Given the description of an element on the screen output the (x, y) to click on. 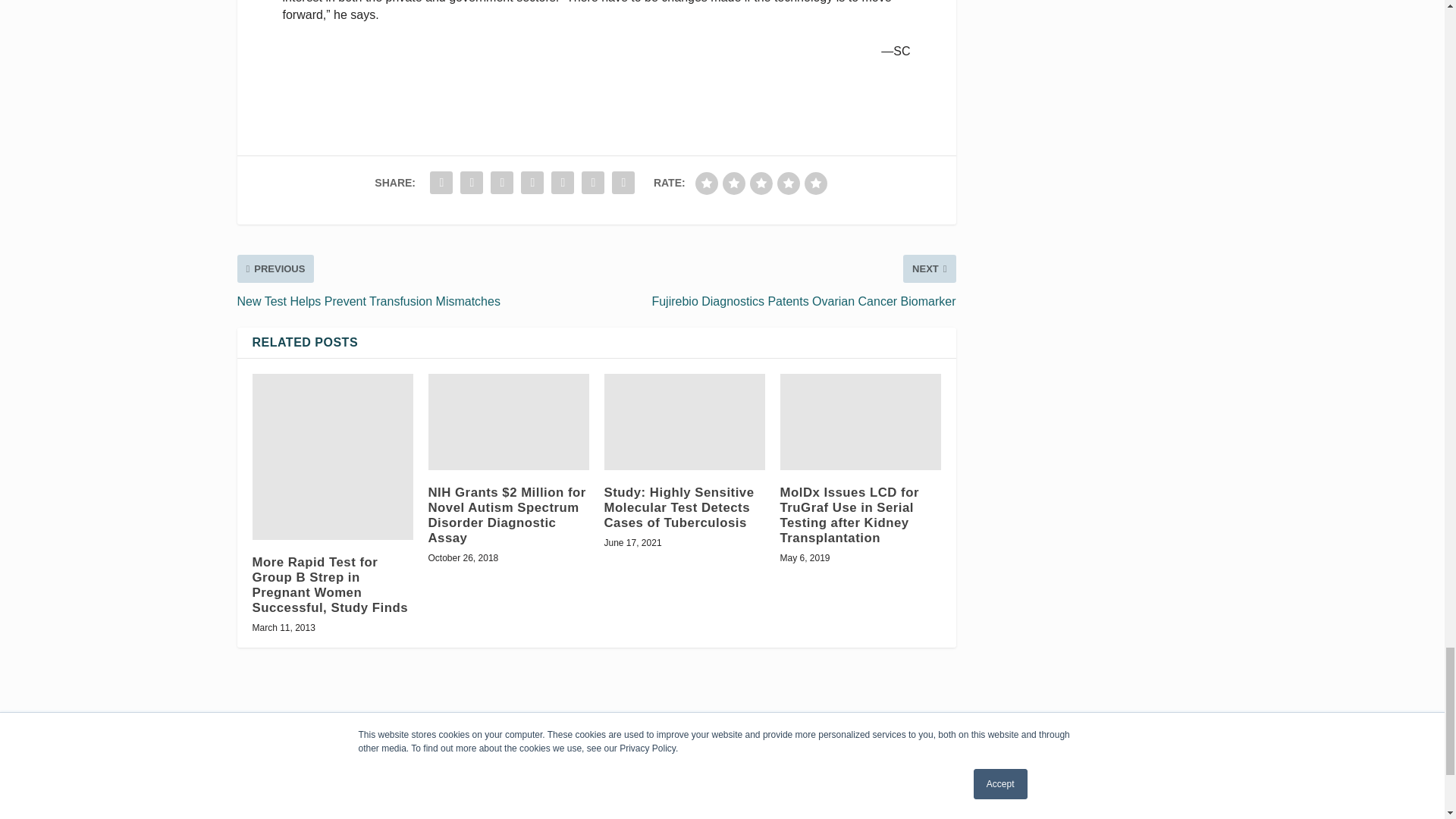
good (788, 182)
gorgeous (816, 182)
regular (761, 182)
bad (706, 182)
poor (733, 182)
